Given the description of an element on the screen output the (x, y) to click on. 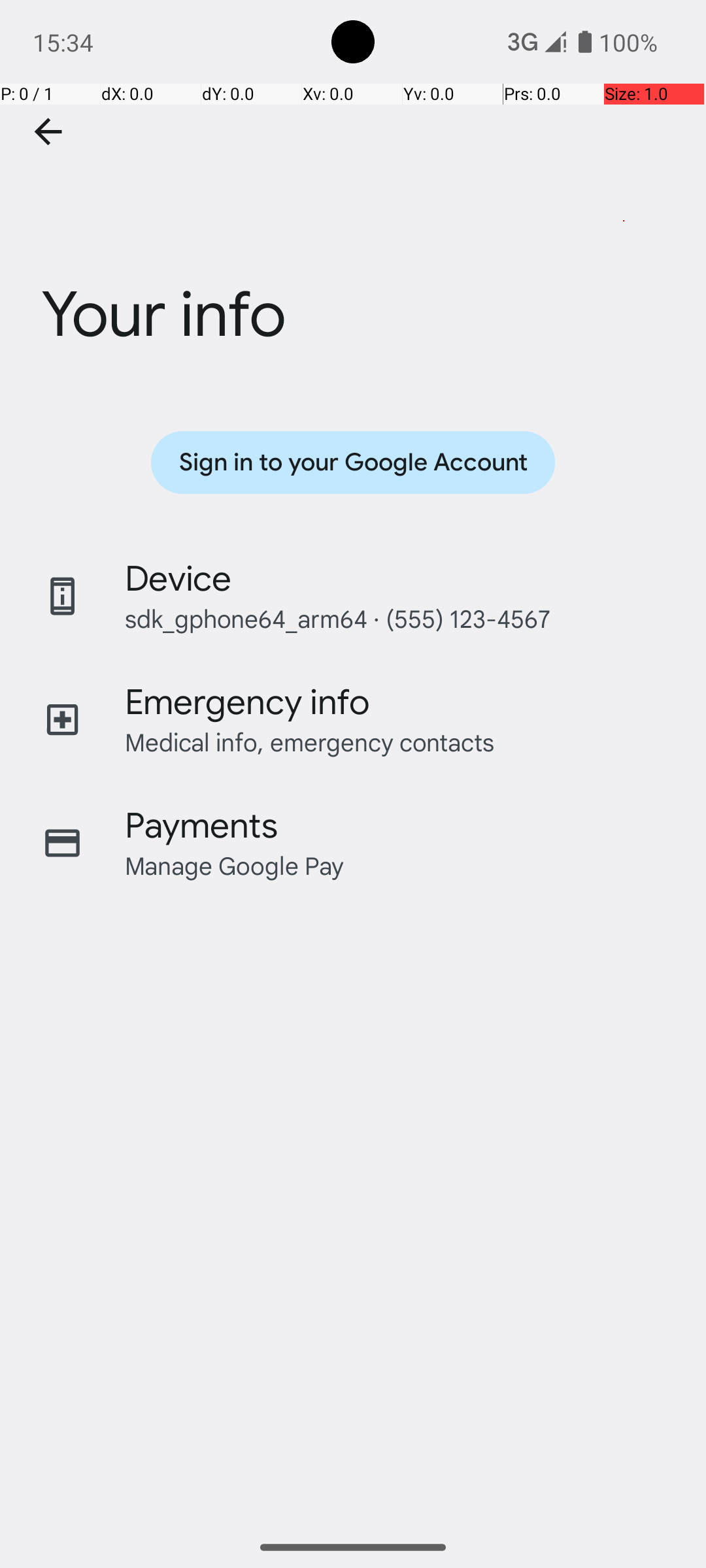
Your info Element type: android.widget.FrameLayout (353, 236)
Sign in to your Google Account Element type: android.widget.Button (352, 462)
Device Element type: android.widget.TextView (178, 578)
sdk_gphone64_arm64 · (555) 123-4567 Element type: android.widget.TextView (337, 618)
Emergency info Element type: android.widget.TextView (246, 702)
Medical info, emergency contacts Element type: android.widget.TextView (309, 741)
Payments Element type: android.widget.TextView (200, 825)
Manage Google Pay Element type: android.widget.TextView (234, 865)
